Given the description of an element on the screen output the (x, y) to click on. 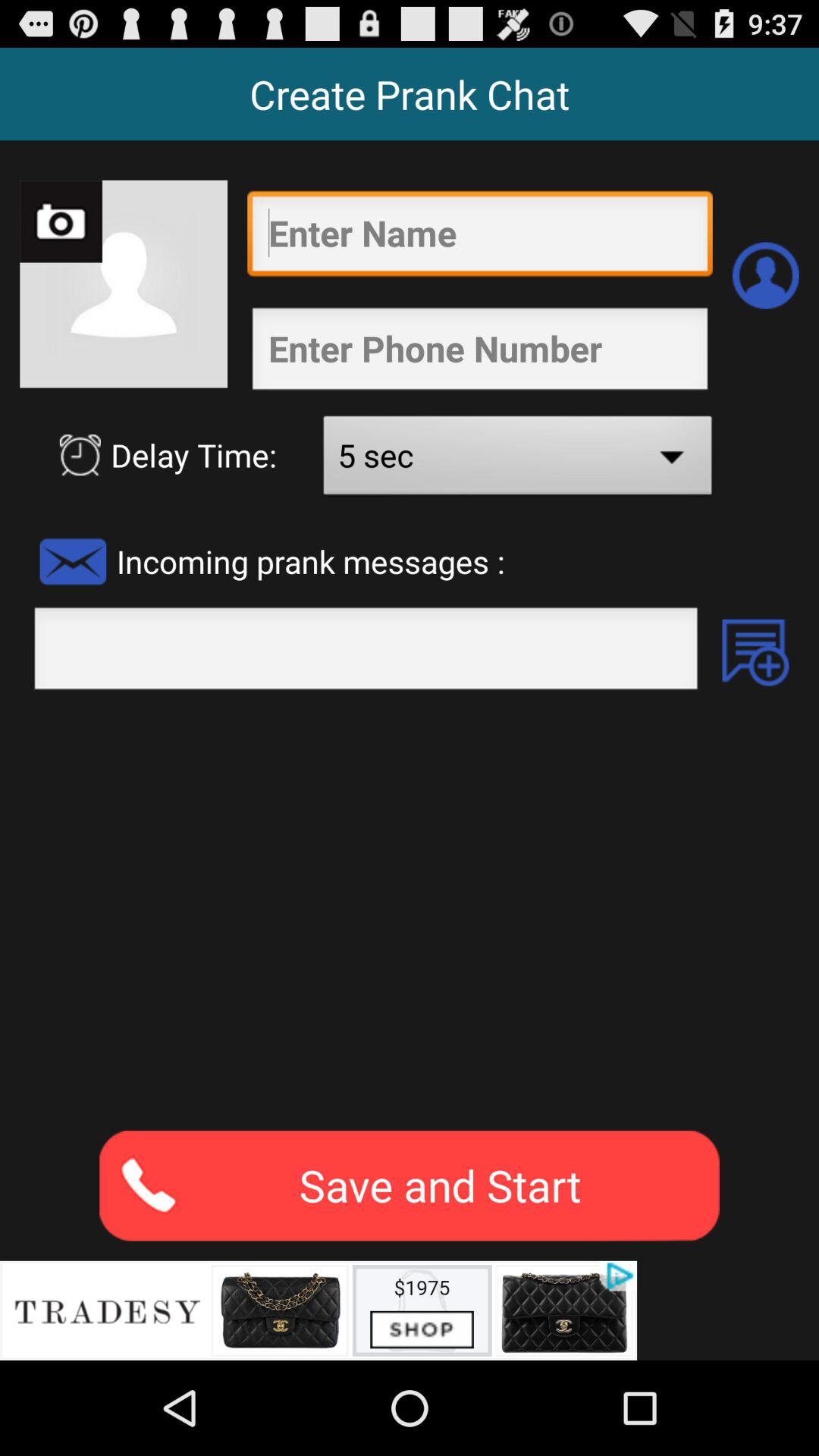
type text (365, 652)
